Given the description of an element on the screen output the (x, y) to click on. 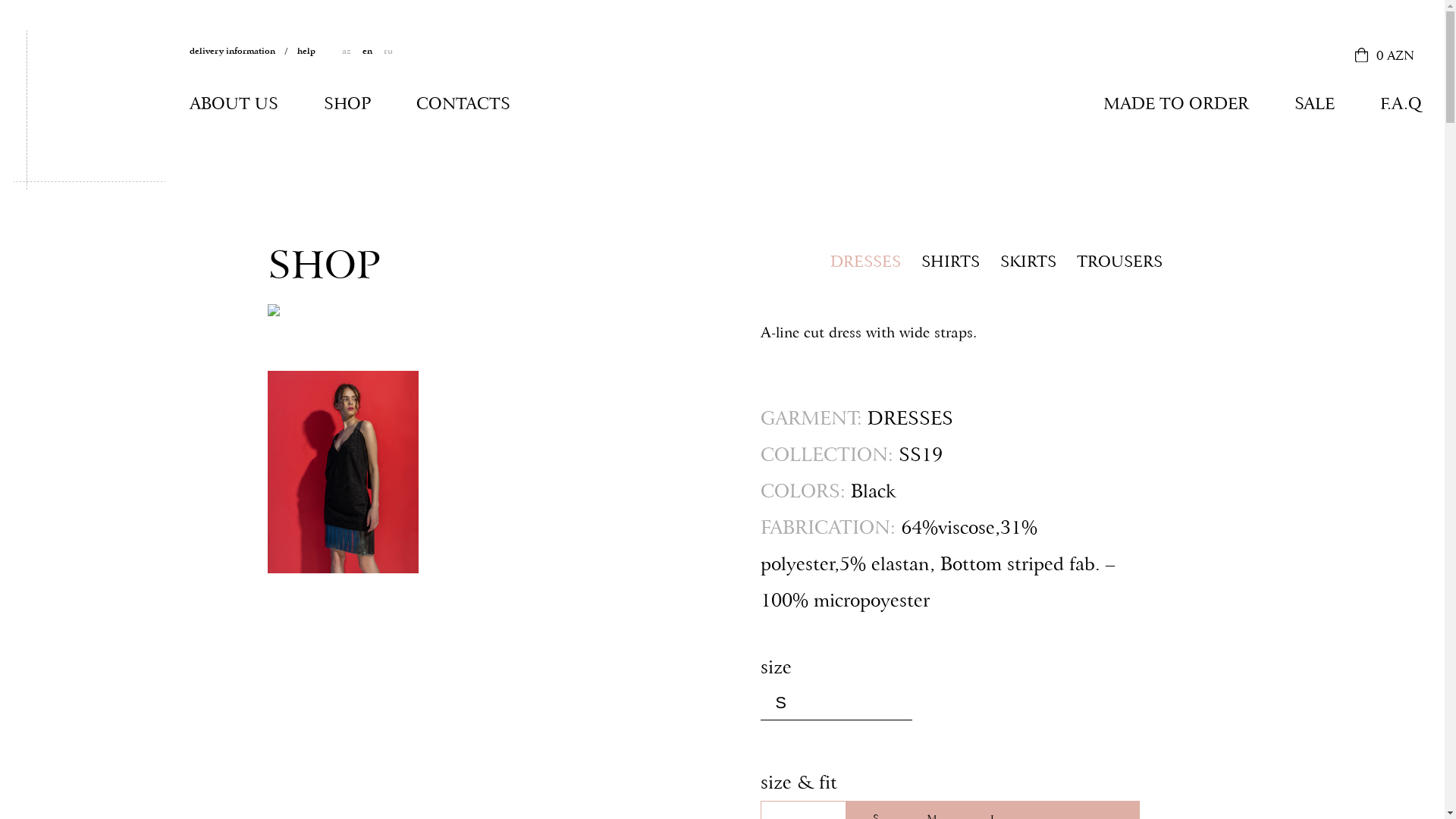
MADE TO ORDER Element type: text (1175, 103)
DRESSES Element type: text (864, 261)
SKIRTS Element type: text (1027, 261)
CONTACTS Element type: text (463, 103)
ABOUT US Element type: text (233, 103)
delivery information Element type: text (243, 50)
SHOP Element type: text (346, 103)
F.A.Q Element type: text (1400, 103)
az Element type: text (346, 50)
ru Element type: text (387, 50)
en Element type: text (367, 50)
TROUSERS Element type: text (1119, 261)
SHIRTS Element type: text (949, 261)
0 AZN Element type: text (1384, 55)
SALE Element type: text (1314, 103)
help Element type: text (313, 50)
